Given the description of an element on the screen output the (x, y) to click on. 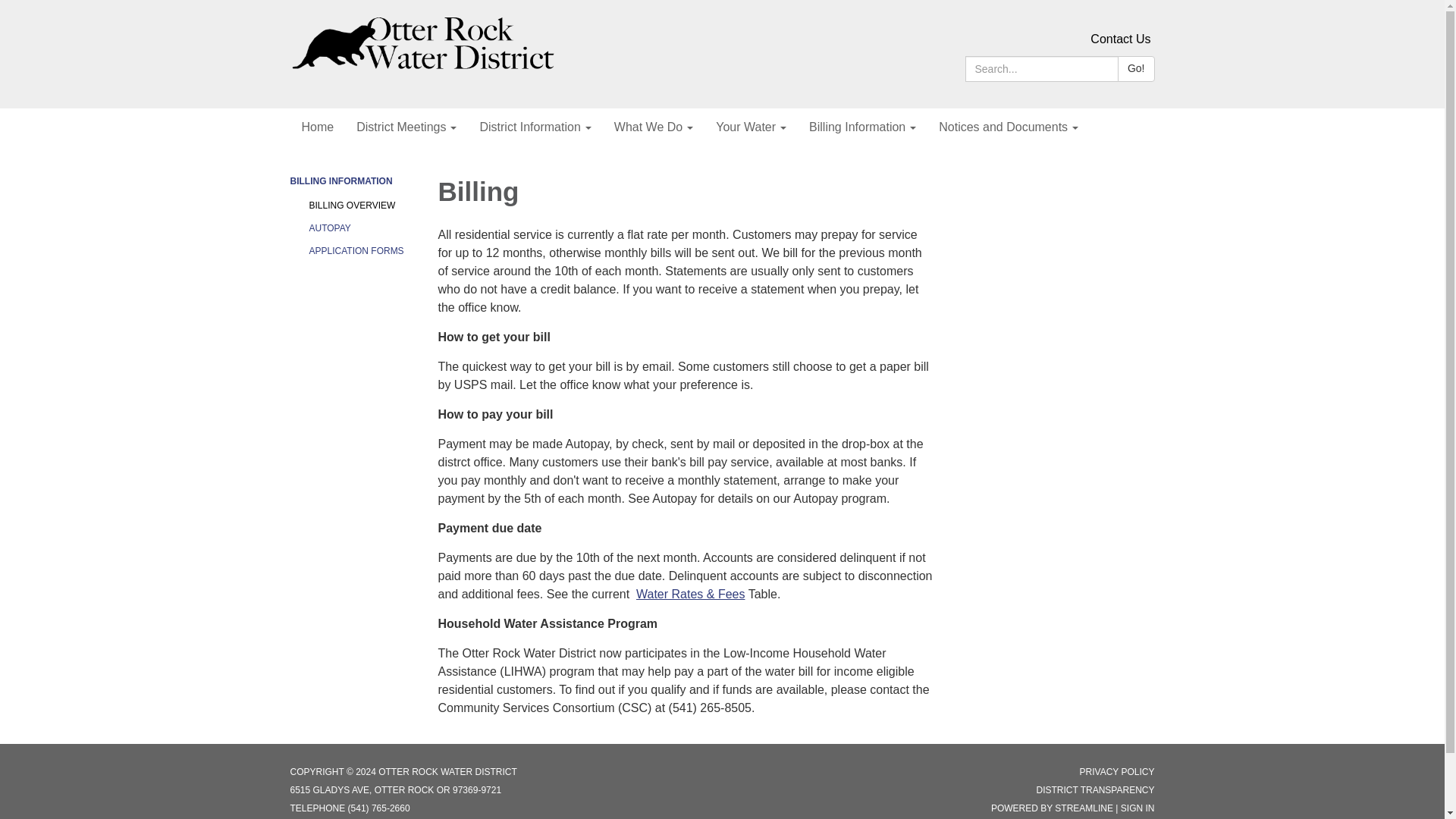
District Meetings (406, 127)
District Information (534, 127)
Your Water (750, 127)
What We Do (653, 127)
Special District Transparency Report (1094, 789)
Home (317, 127)
Go! (1136, 68)
Streamline: Technology for Special Districts (1083, 808)
Contact Us (1119, 38)
